Given the description of an element on the screen output the (x, y) to click on. 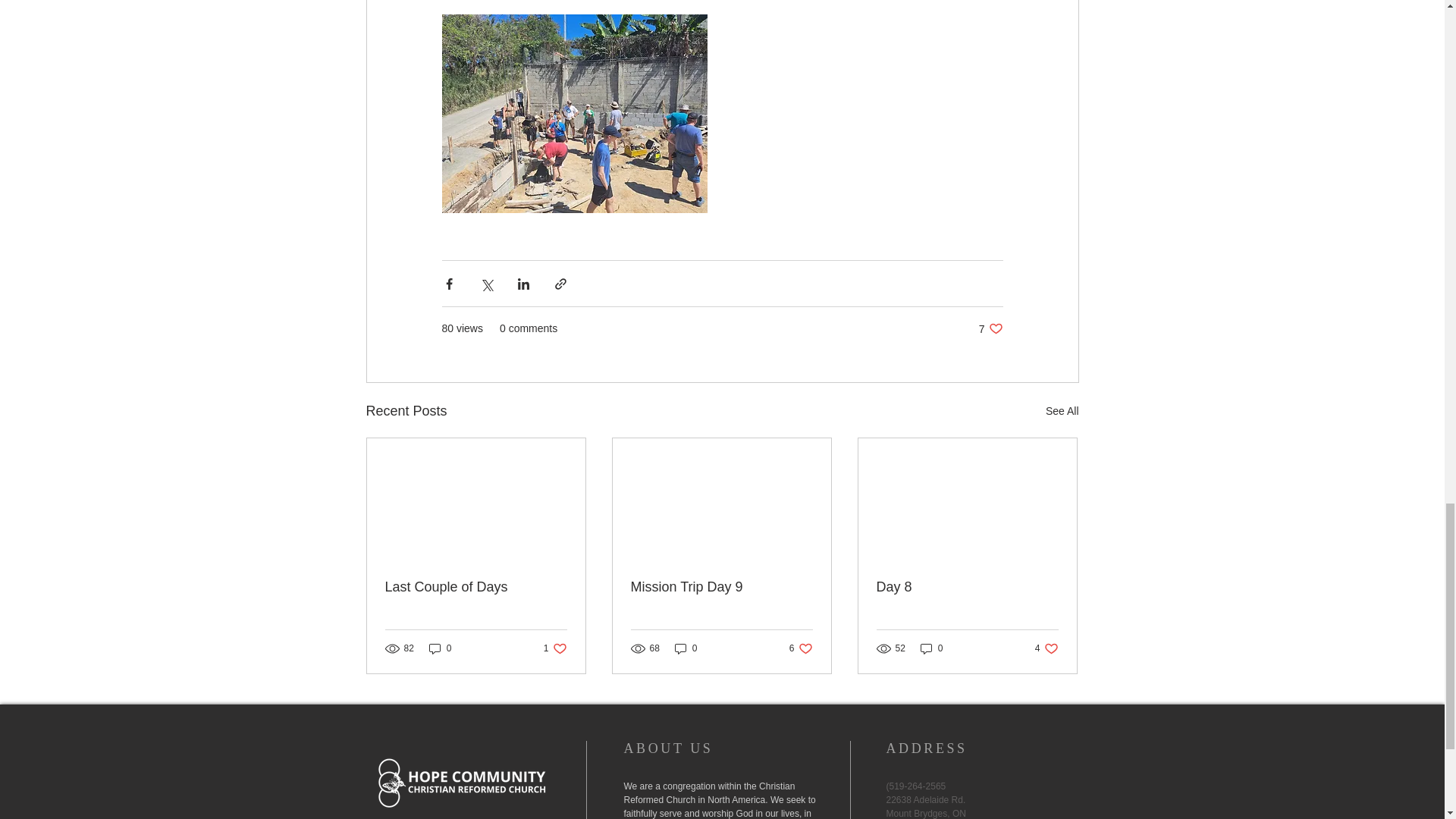
0 (555, 648)
Mission Trip Day 9 (931, 648)
See All (800, 648)
0 (721, 587)
0 (1046, 648)
Day 8 (990, 328)
